Given the description of an element on the screen output the (x, y) to click on. 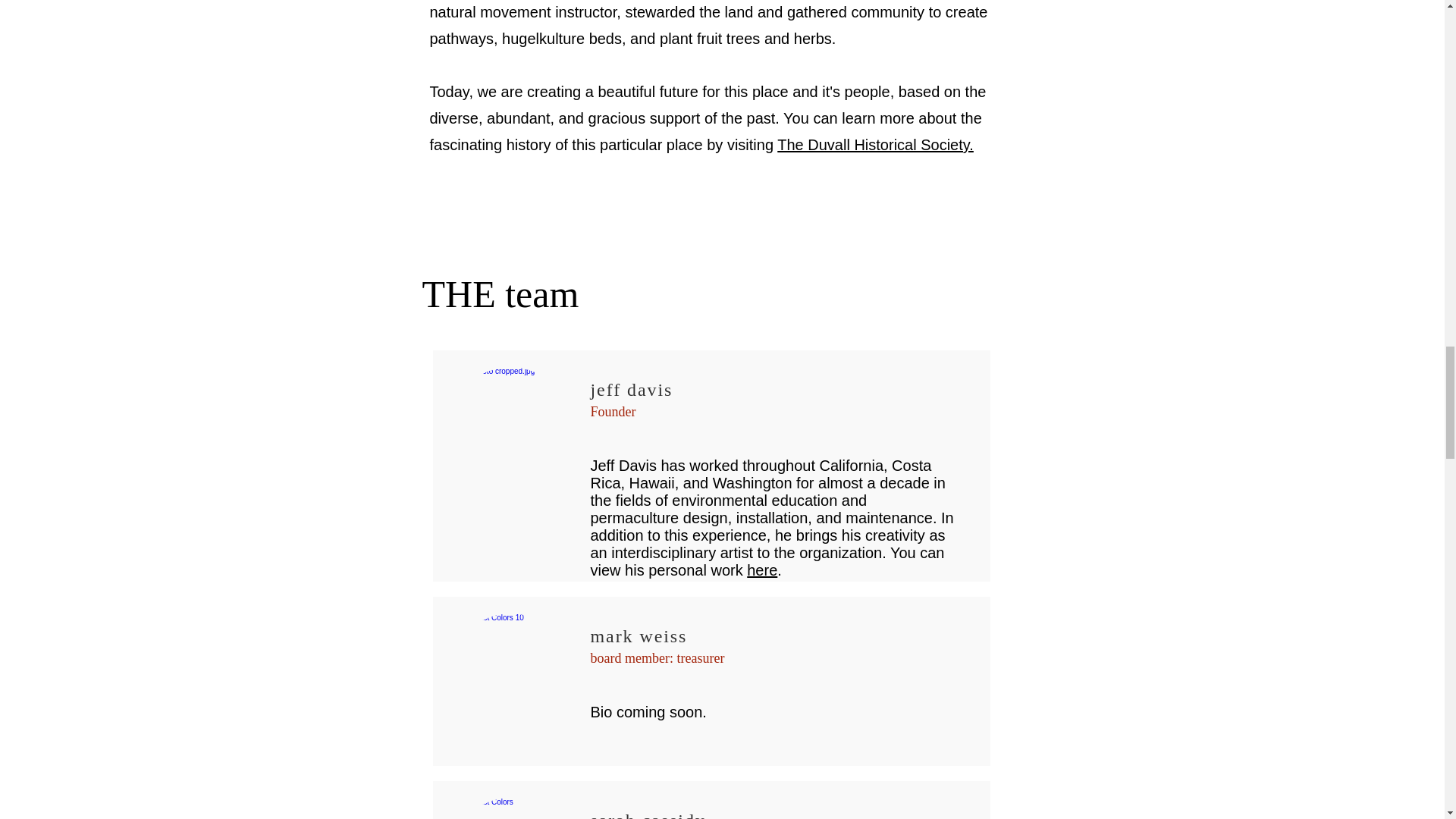
The Duvall Historical Society. (875, 144)
here (761, 569)
